Given the description of an element on the screen output the (x, y) to click on. 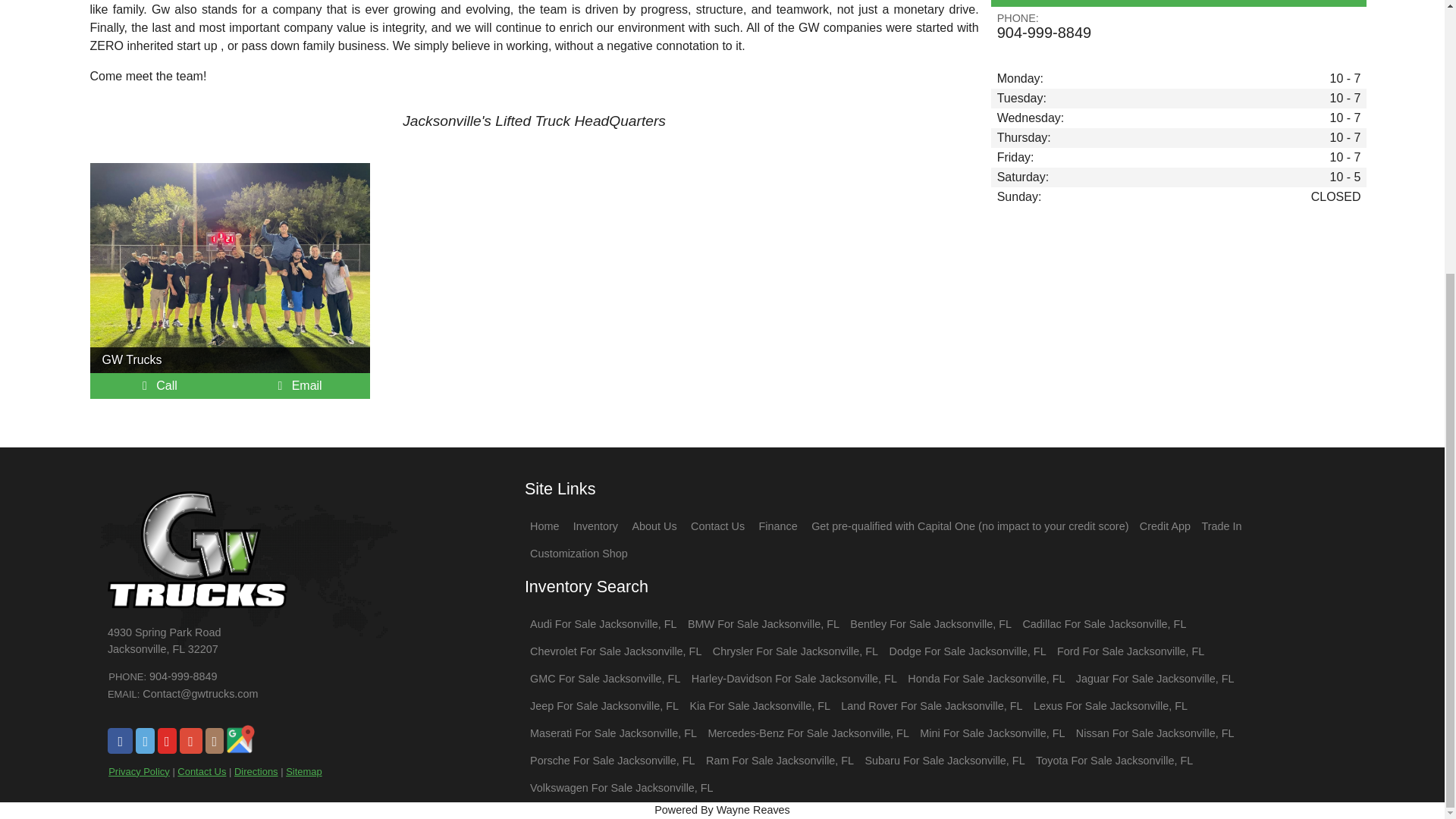
Chrysler For Sale Jacksonville, FL (795, 651)
Kia For Sale Jacksonville, FL (758, 705)
Contact Us (201, 771)
Maserati For Sale Jacksonville, FL (613, 733)
Honda For Sale Jacksonville, FL (985, 678)
BMW For Sale Jacksonville, FL (763, 623)
Contact Us (299, 385)
Chevrolet For Sale Jacksonville, FL (615, 651)
Contact Us (717, 526)
Dodge For Sale Jacksonville, FL (966, 651)
Audi For Sale Jacksonville, FL (603, 623)
About Us (654, 526)
Finance (777, 526)
Mercedes-Benz For Sale Jacksonville, FL (807, 733)
Inventory (595, 526)
